Given the description of an element on the screen output the (x, y) to click on. 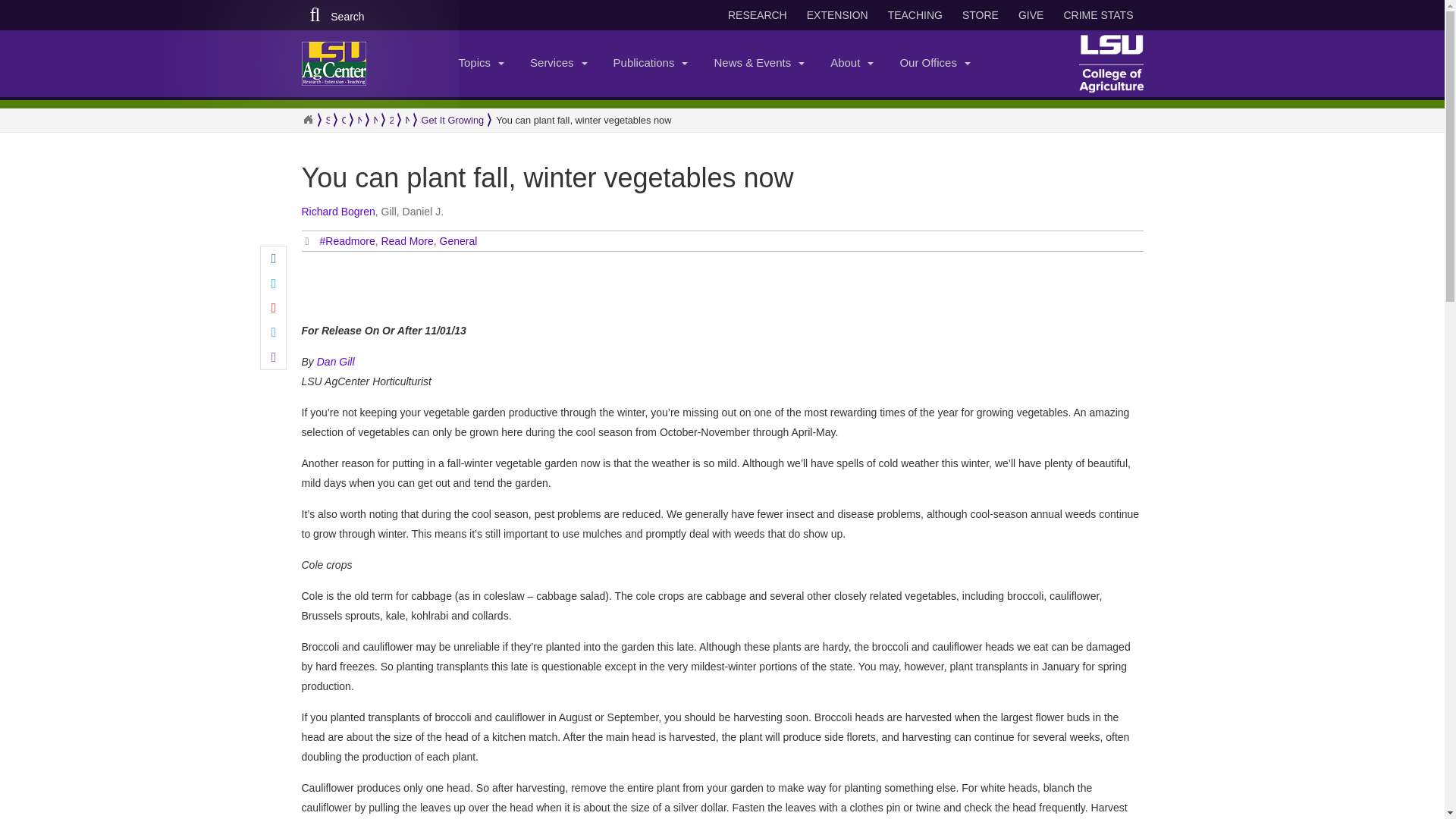
Crime Stats - LSU AgCenter (1097, 14)
Extension (837, 14)
Research (757, 14)
Give to LSU AgCenter (1030, 14)
Store (980, 14)
Teaching (915, 14)
